Given the description of an element on the screen output the (x, y) to click on. 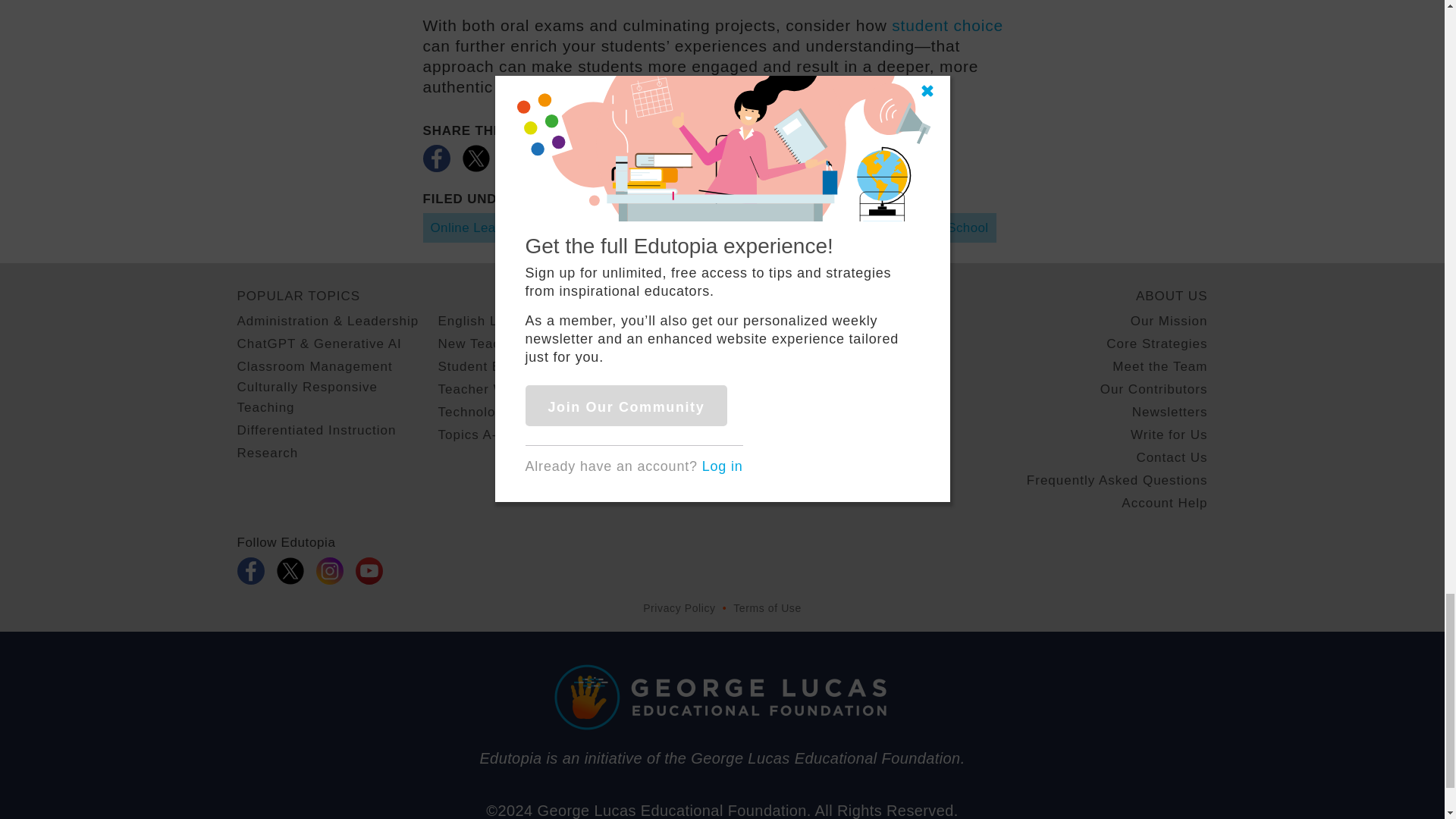
6-8 Middle School (809, 227)
Online Learning (478, 227)
Classroom Management (313, 366)
9-12 High School (936, 227)
Collaborative Learning (615, 227)
Math (718, 227)
student choice (947, 25)
Differentiated Instruction (315, 430)
Culturally Responsive Teaching (336, 396)
